Given the description of an element on the screen output the (x, y) to click on. 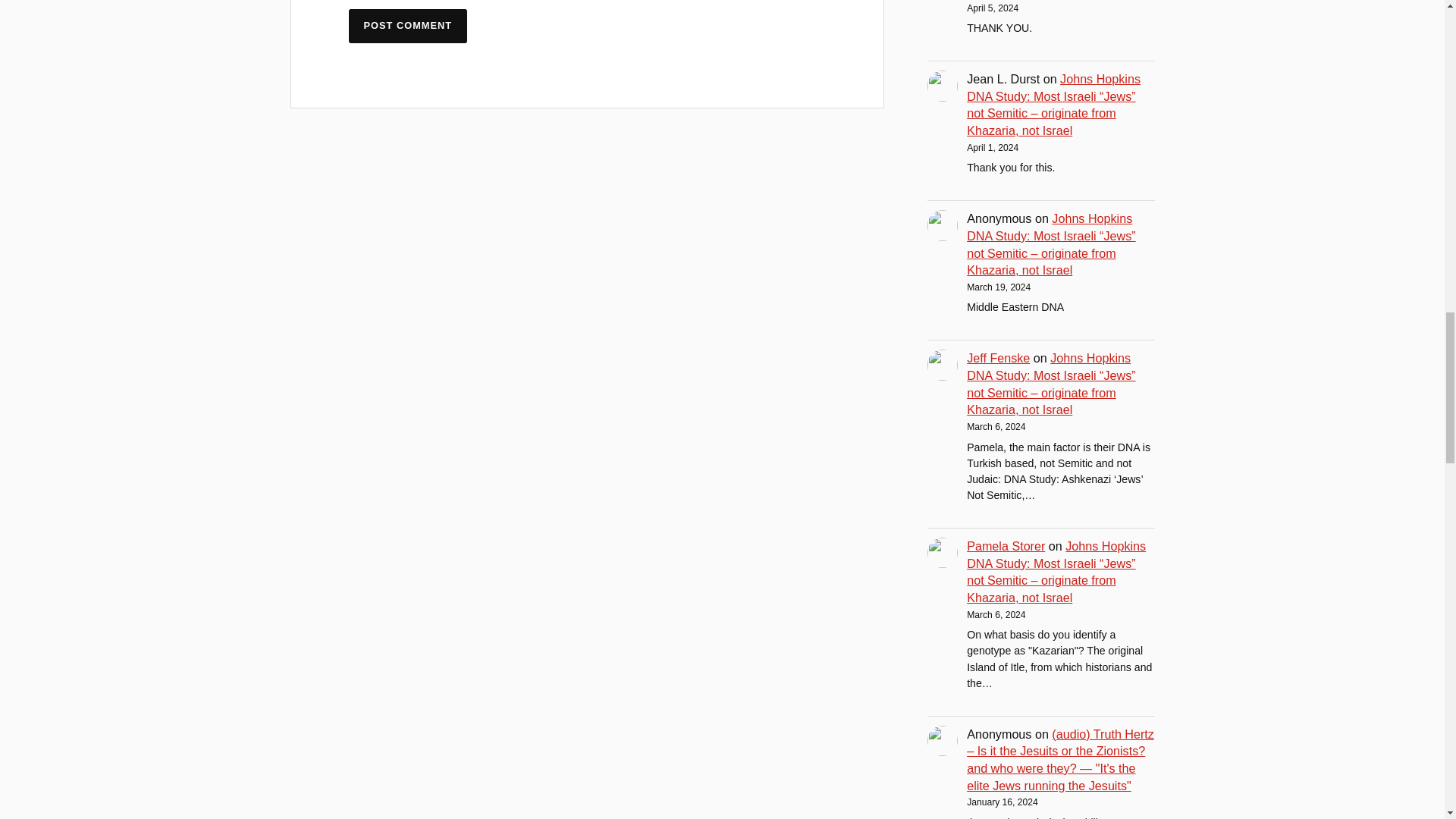
Jeff Fenske (997, 357)
Post Comment (408, 26)
Pamela Storer (1005, 545)
Post Comment (408, 26)
